Given the description of an element on the screen output the (x, y) to click on. 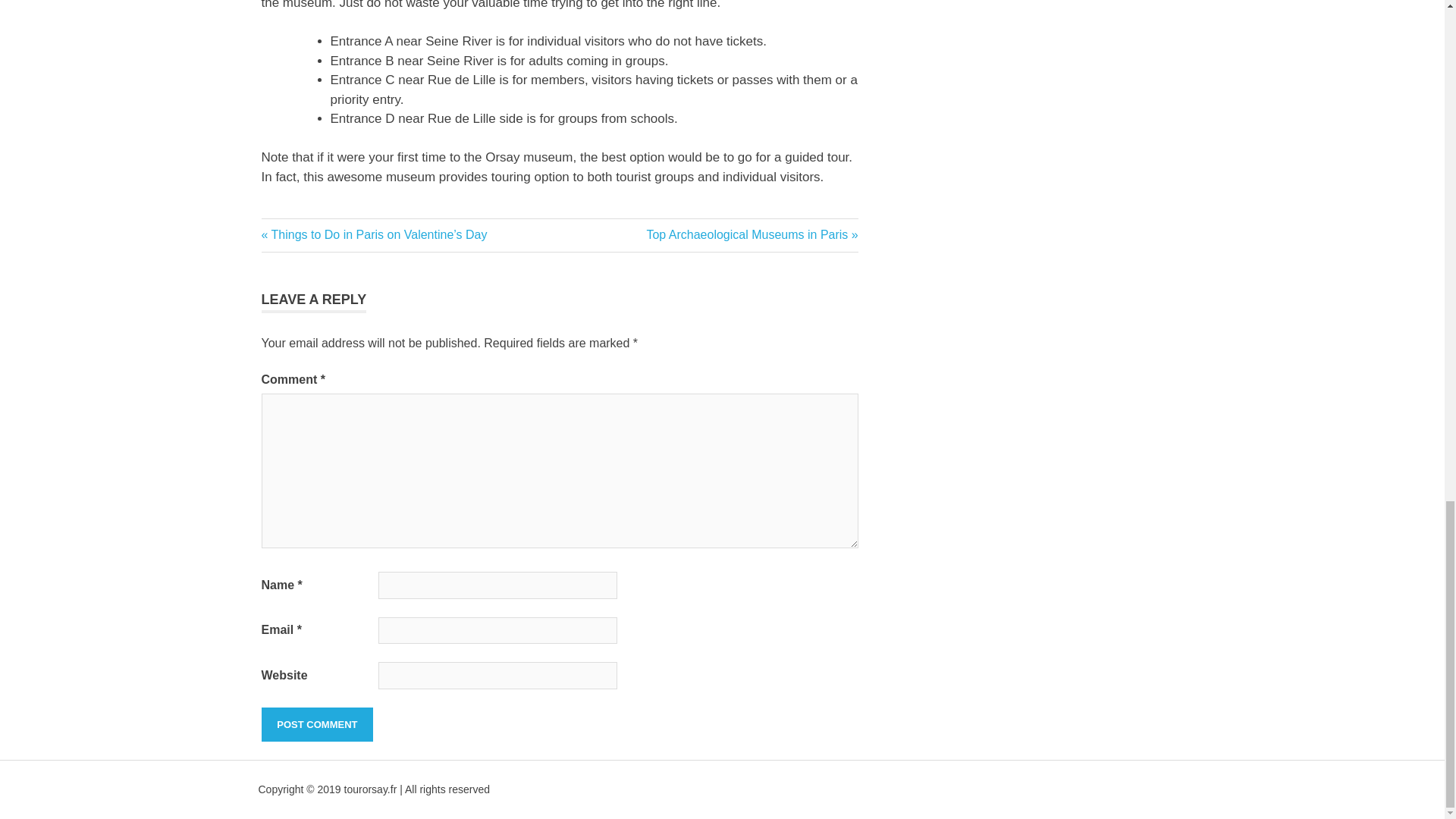
Post Comment (316, 724)
Post Comment (316, 724)
